Given the description of an element on the screen output the (x, y) to click on. 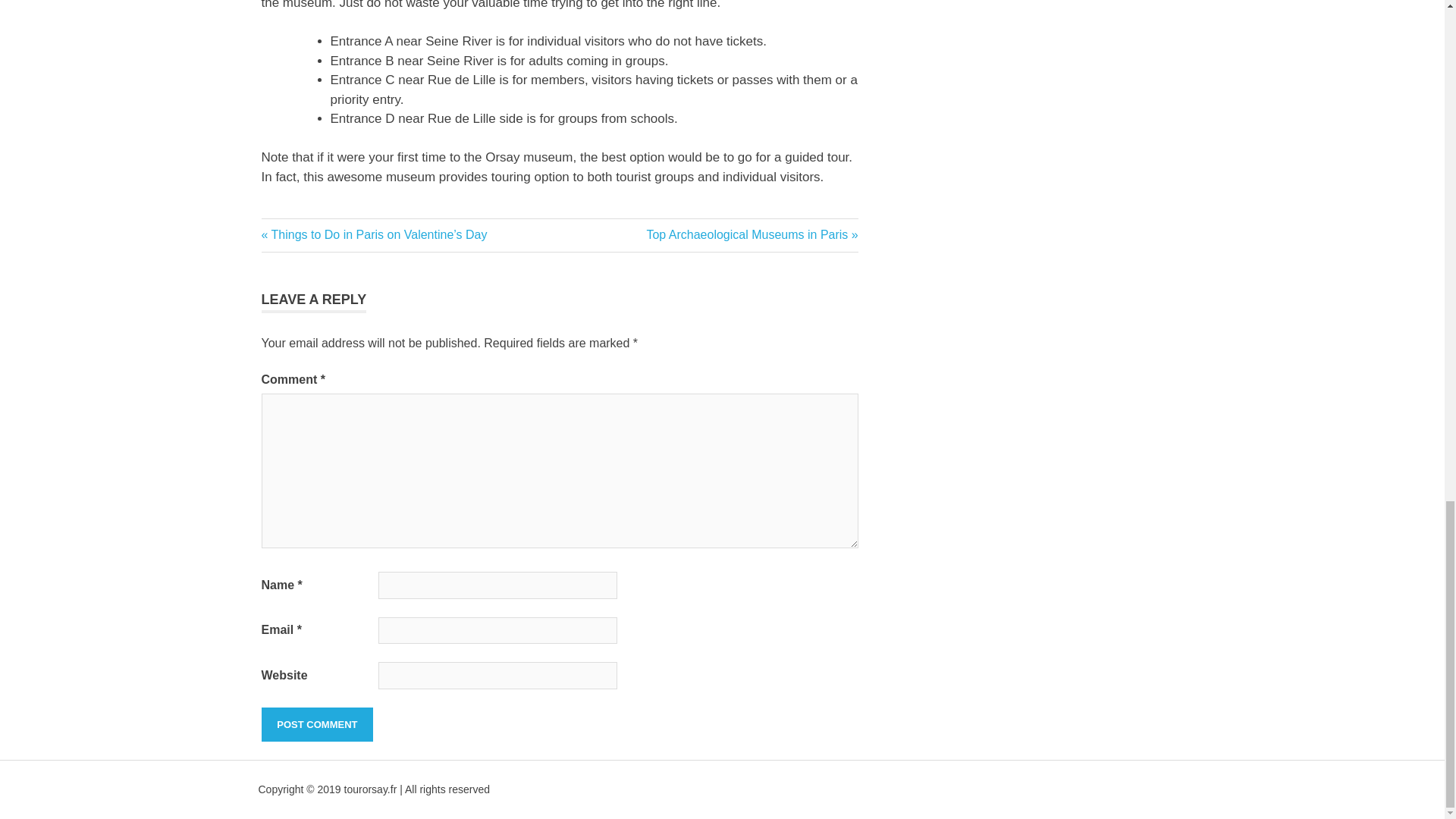
Post Comment (316, 724)
Post Comment (316, 724)
